Given the description of an element on the screen output the (x, y) to click on. 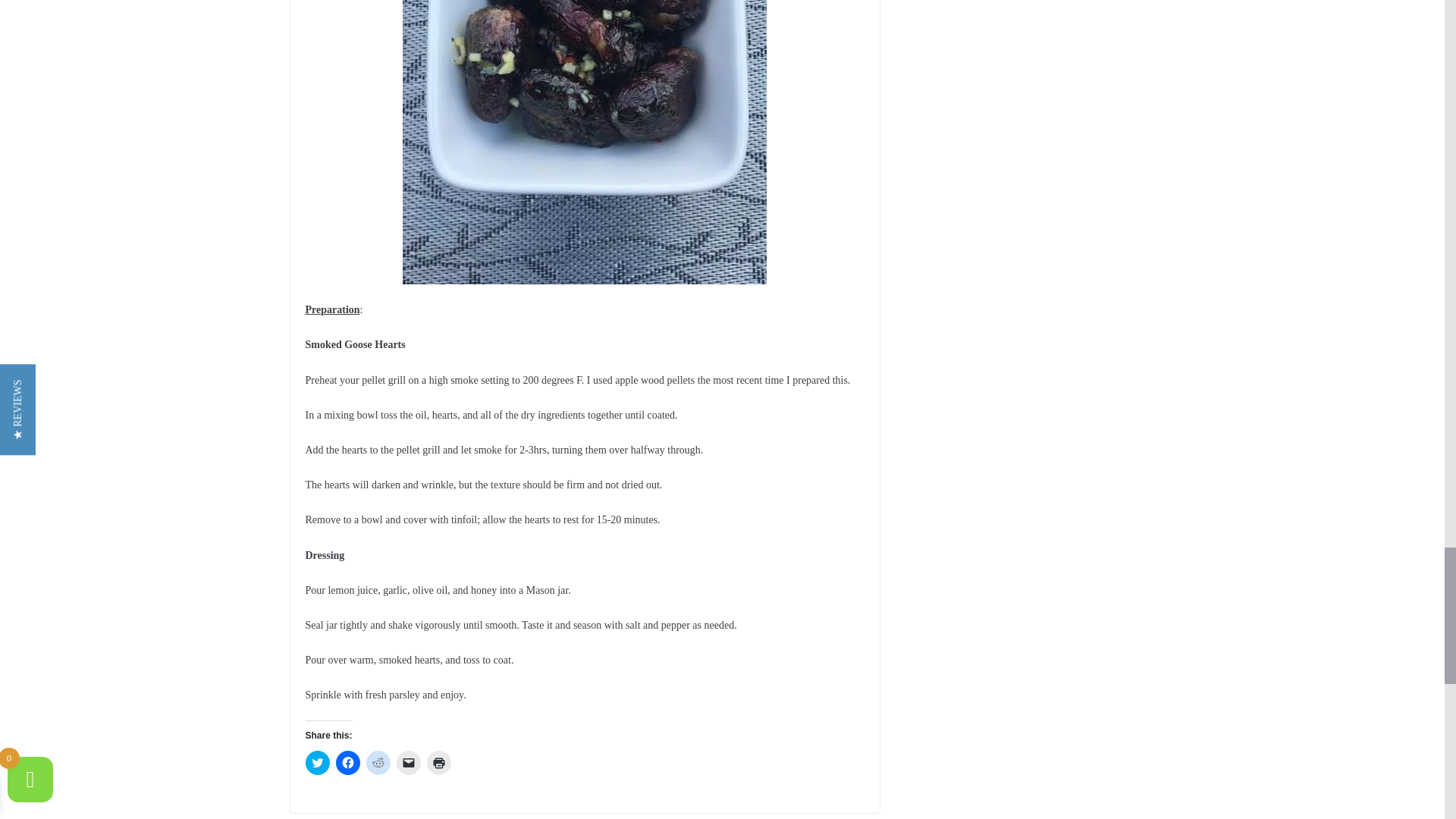
Click to share on Facebook (346, 762)
Click to share on Twitter (316, 762)
